Given the description of an element on the screen output the (x, y) to click on. 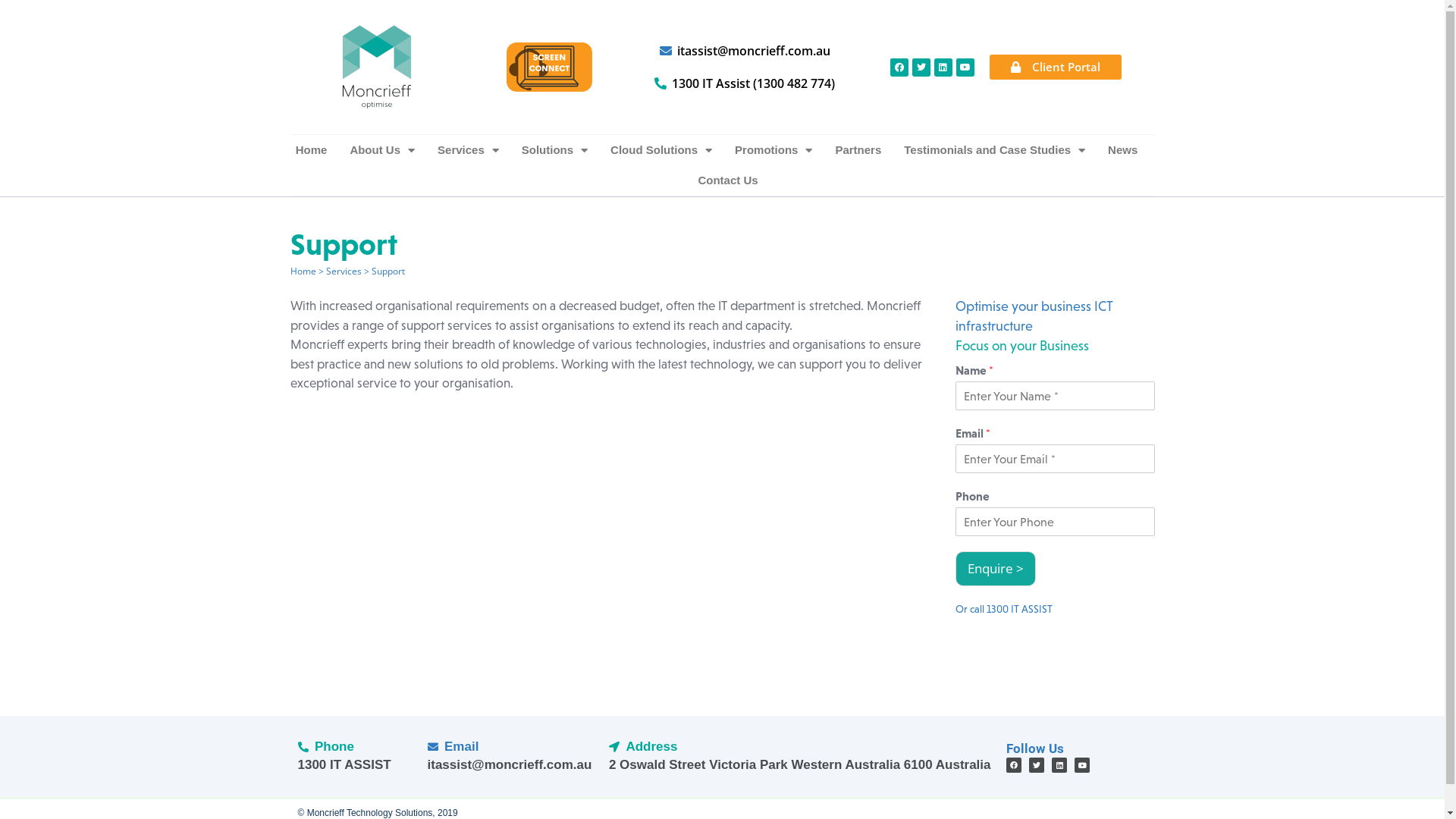
1300 IT Assist (1300 482 774) Element type: text (743, 83)
Solutions Element type: text (554, 149)
Services Element type: text (467, 149)
Promotions Element type: text (773, 149)
Home Element type: text (311, 149)
Moncrieff IT Services Perth Element type: hover (376, 66)
Partners Element type: text (857, 149)
1300 IT ASSIST Element type: text (354, 765)
Home Element type: text (302, 270)
Cloud Solutions Element type: text (661, 149)
News Element type: text (1122, 149)
About Us Element type: text (381, 149)
Services Element type: text (343, 270)
Contact Us Element type: text (727, 180)
itassist@moncrieff.com.au Element type: text (743, 50)
Enquire > Element type: text (995, 568)
Client Portal Element type: text (1054, 66)
itassist@moncrieff.com.au Element type: text (510, 765)
Testimonials and Case Studies Element type: text (994, 149)
